Given the description of an element on the screen output the (x, y) to click on. 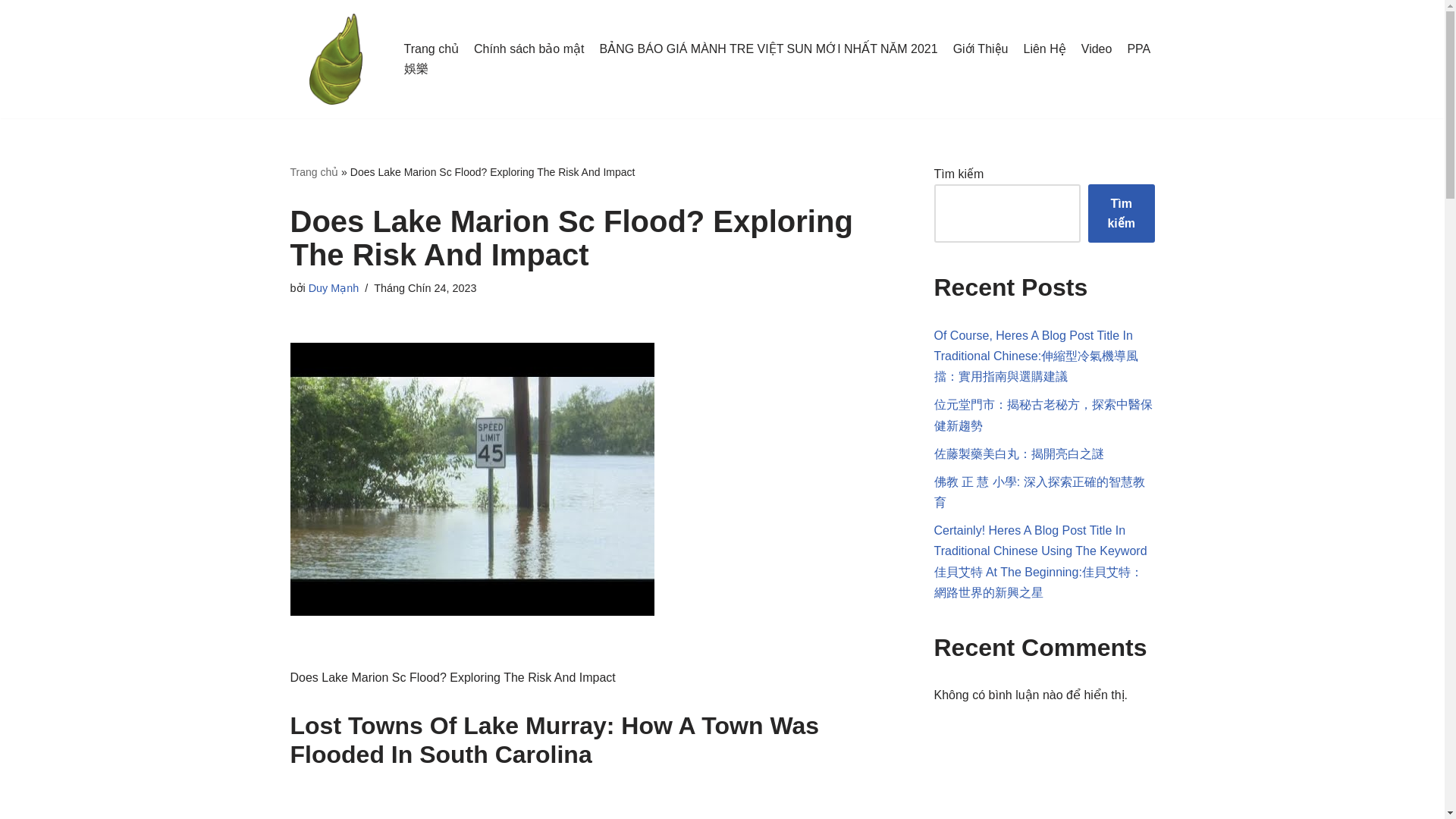
Manhtretruc.com (334, 58)
Video (1096, 48)
PPA (1138, 48)
